Given the description of an element on the screen output the (x, y) to click on. 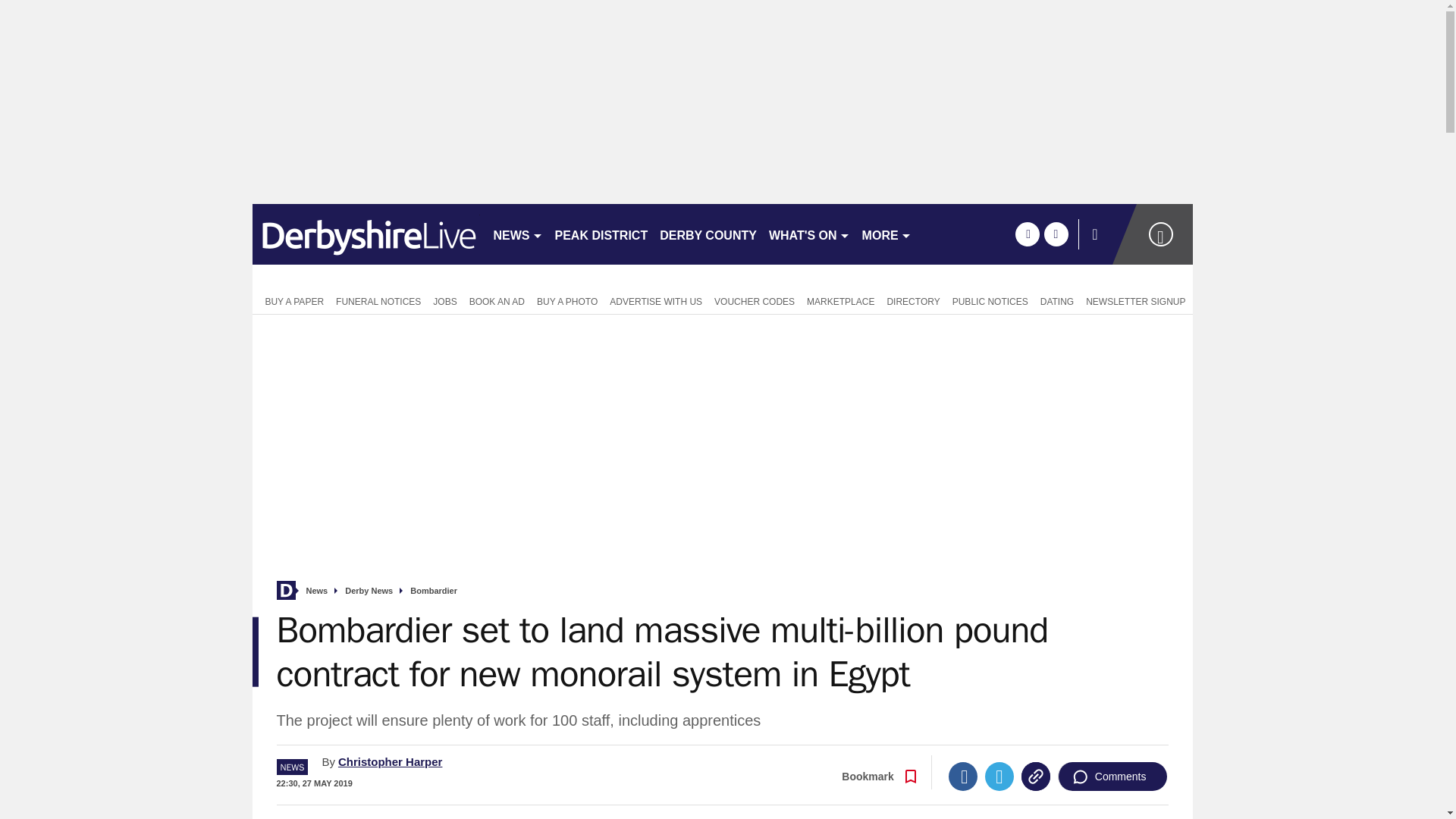
facebook (1026, 233)
Facebook (962, 776)
WHAT'S ON (809, 233)
NEWS (517, 233)
Comments (1112, 776)
Twitter (999, 776)
PEAK DISTRICT (600, 233)
DERBY COUNTY (707, 233)
MORE (886, 233)
derbytelegraph (365, 233)
